Given the description of an element on the screen output the (x, y) to click on. 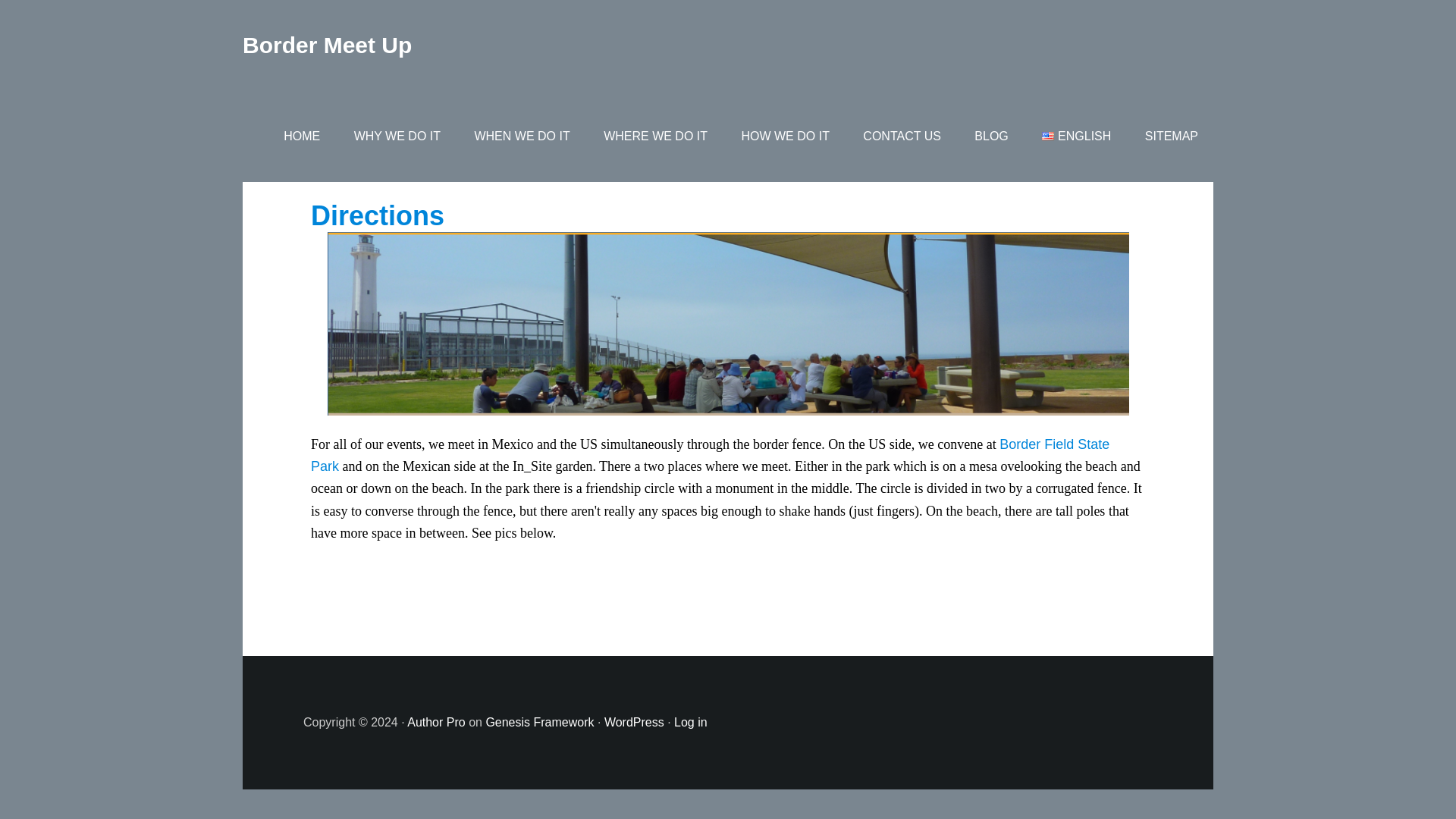
Border Meet Up (327, 44)
SITEMAP (1170, 135)
ENGLISH (1075, 135)
Author Pro (435, 721)
Genesis Framework (539, 721)
HOW WE DO IT (784, 135)
WHERE WE DO IT (655, 135)
WordPress (633, 721)
WHY WE DO IT (397, 135)
